Given the description of an element on the screen output the (x, y) to click on. 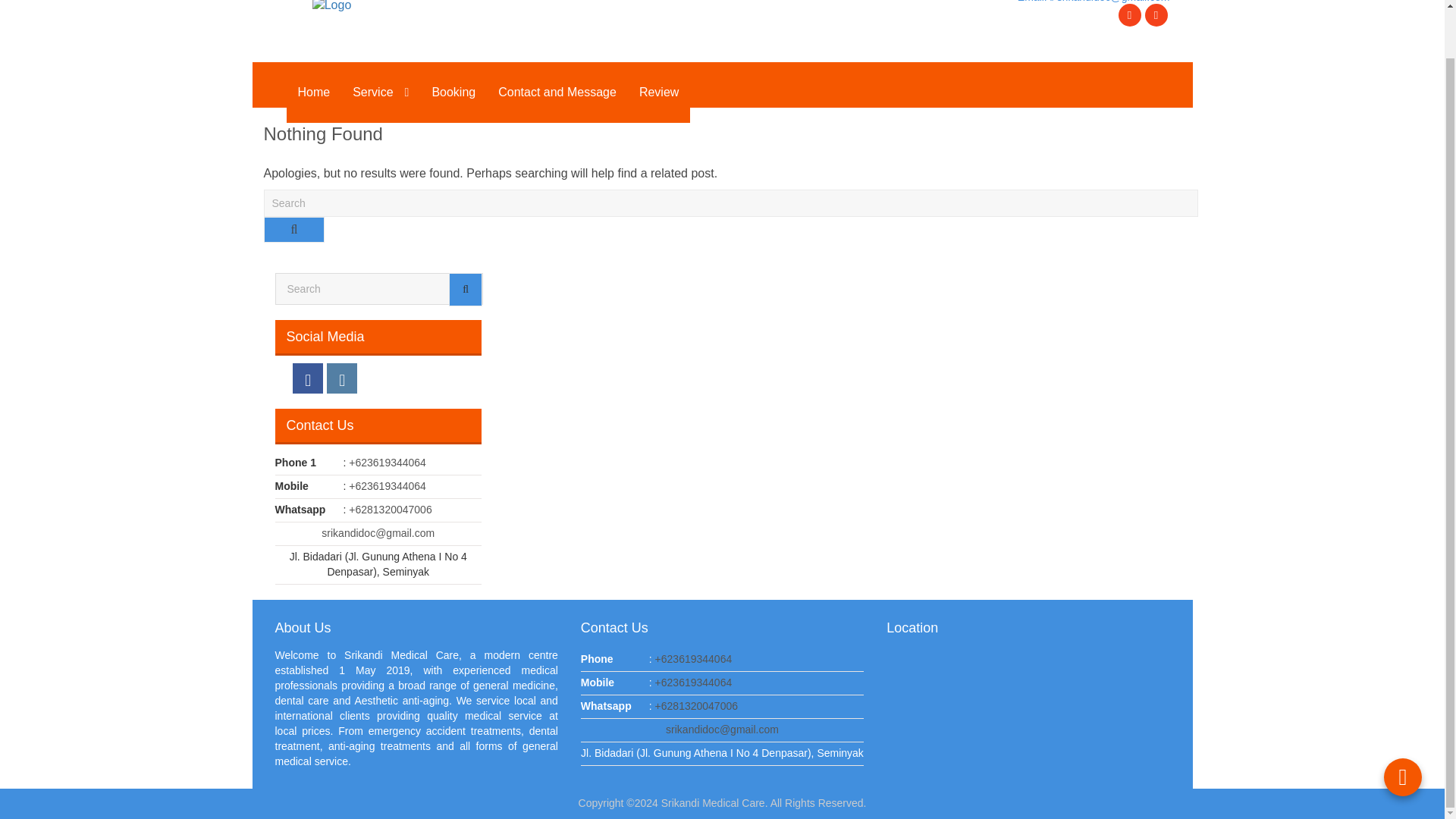
Service (380, 92)
Contact and Message (556, 92)
Booking (453, 92)
Review (658, 92)
Home (314, 92)
